Given the description of an element on the screen output the (x, y) to click on. 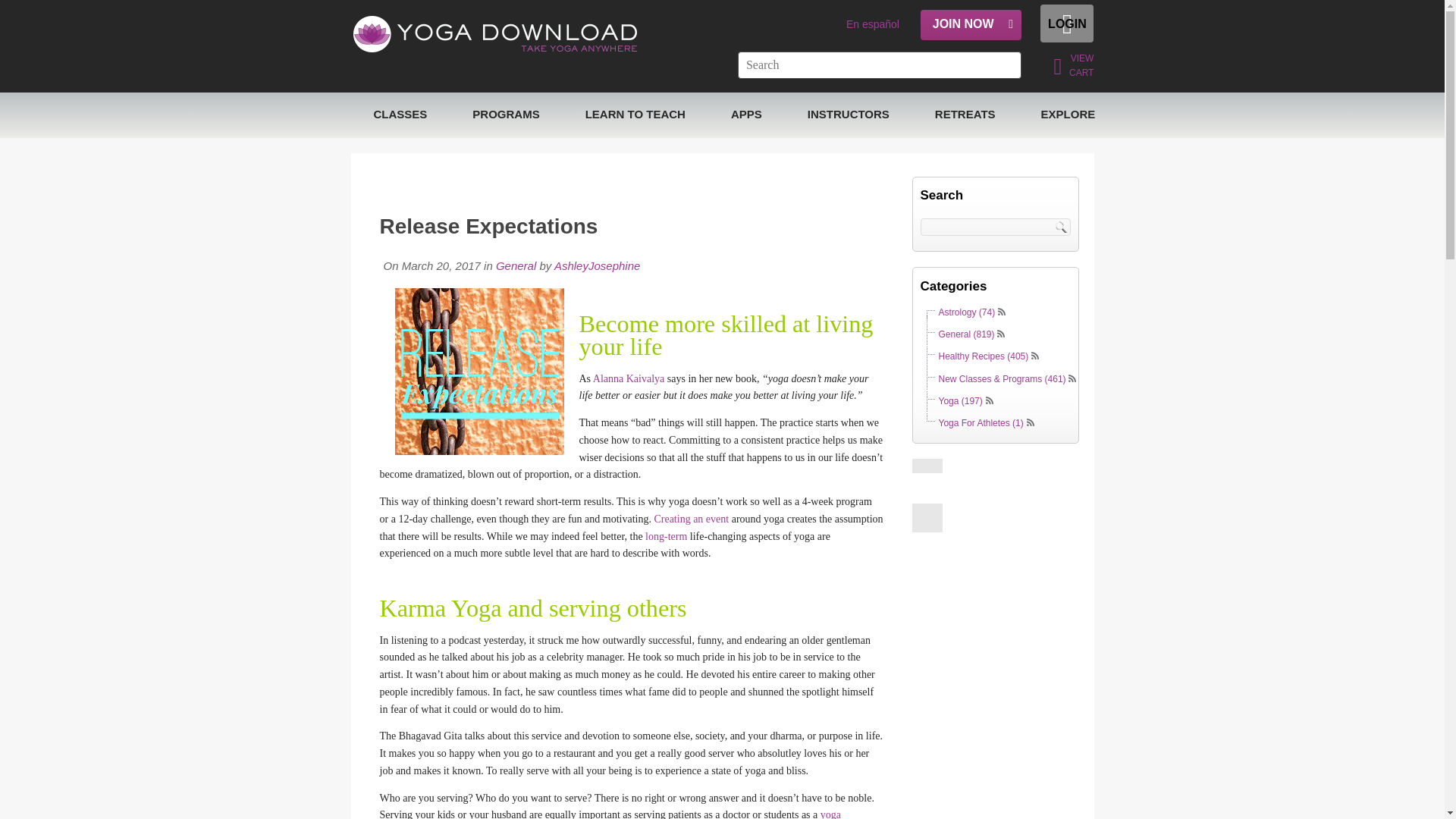
General (515, 265)
CLASSES (399, 115)
Search (1062, 226)
PROGRAMS (505, 115)
LEARN TO TEACH (634, 115)
INSTRUCTORS (848, 115)
EXPLORE (1067, 115)
AshleyJosephine (595, 265)
RETREATS (964, 115)
APPS (745, 115)
